Given the description of an element on the screen output the (x, y) to click on. 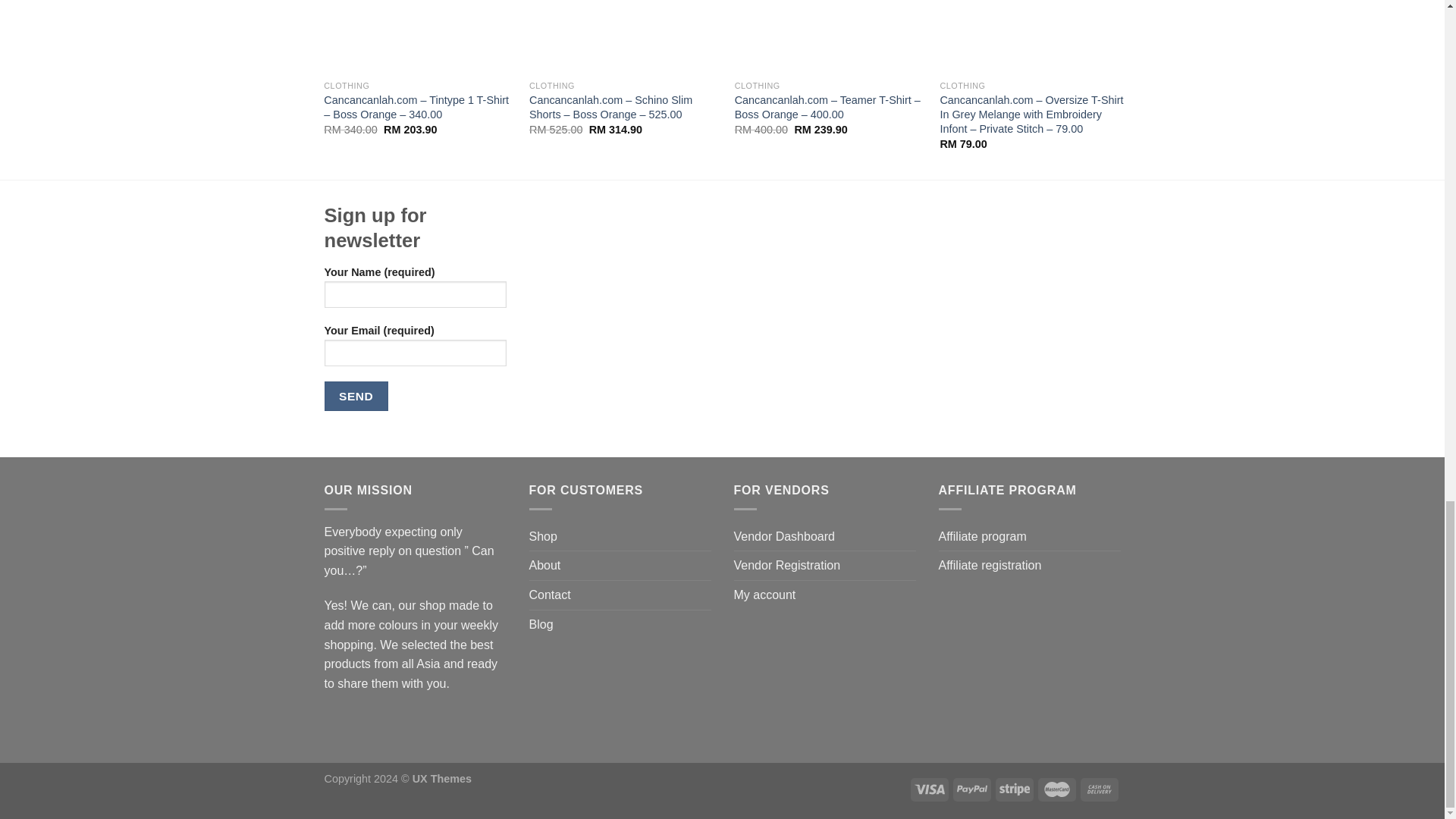
Send (356, 396)
